Given the description of an element on the screen output the (x, y) to click on. 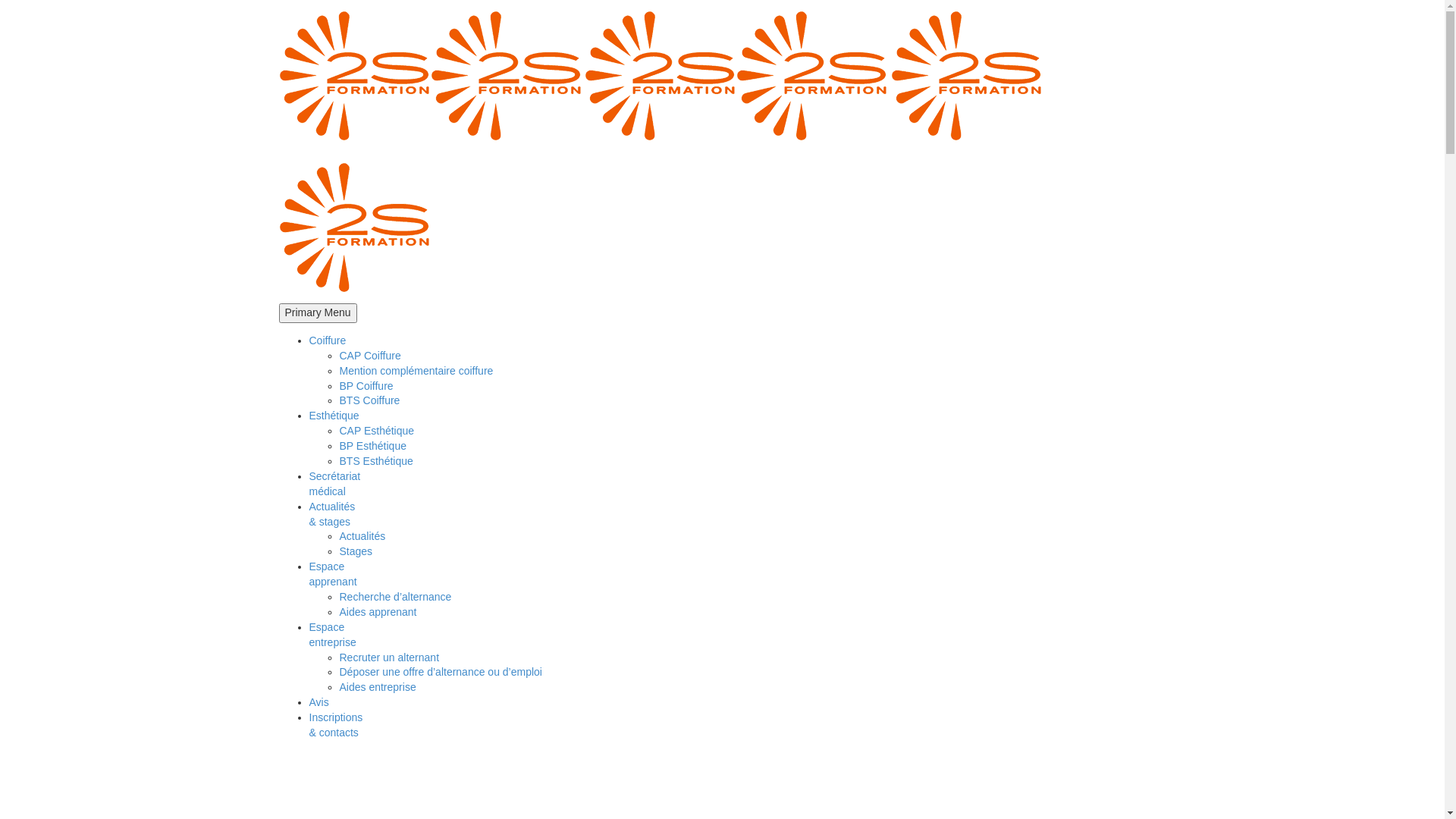
Primary Menu Element type: text (318, 313)
Aides entreprise Element type: text (377, 686)
Espace
entreprise Element type: text (332, 634)
Aides apprenant Element type: text (378, 611)
Coiffure Element type: text (327, 340)
BTS Coiffure Element type: text (369, 400)
BP Coiffure Element type: text (366, 385)
Avis Element type: text (319, 702)
Recruter un alternant Element type: text (389, 657)
CAP Coiffure Element type: text (370, 355)
Inscriptions
& contacts Element type: text (336, 724)
Stages Element type: text (356, 551)
Espace
apprenant Element type: text (333, 573)
